Given the description of an element on the screen output the (x, y) to click on. 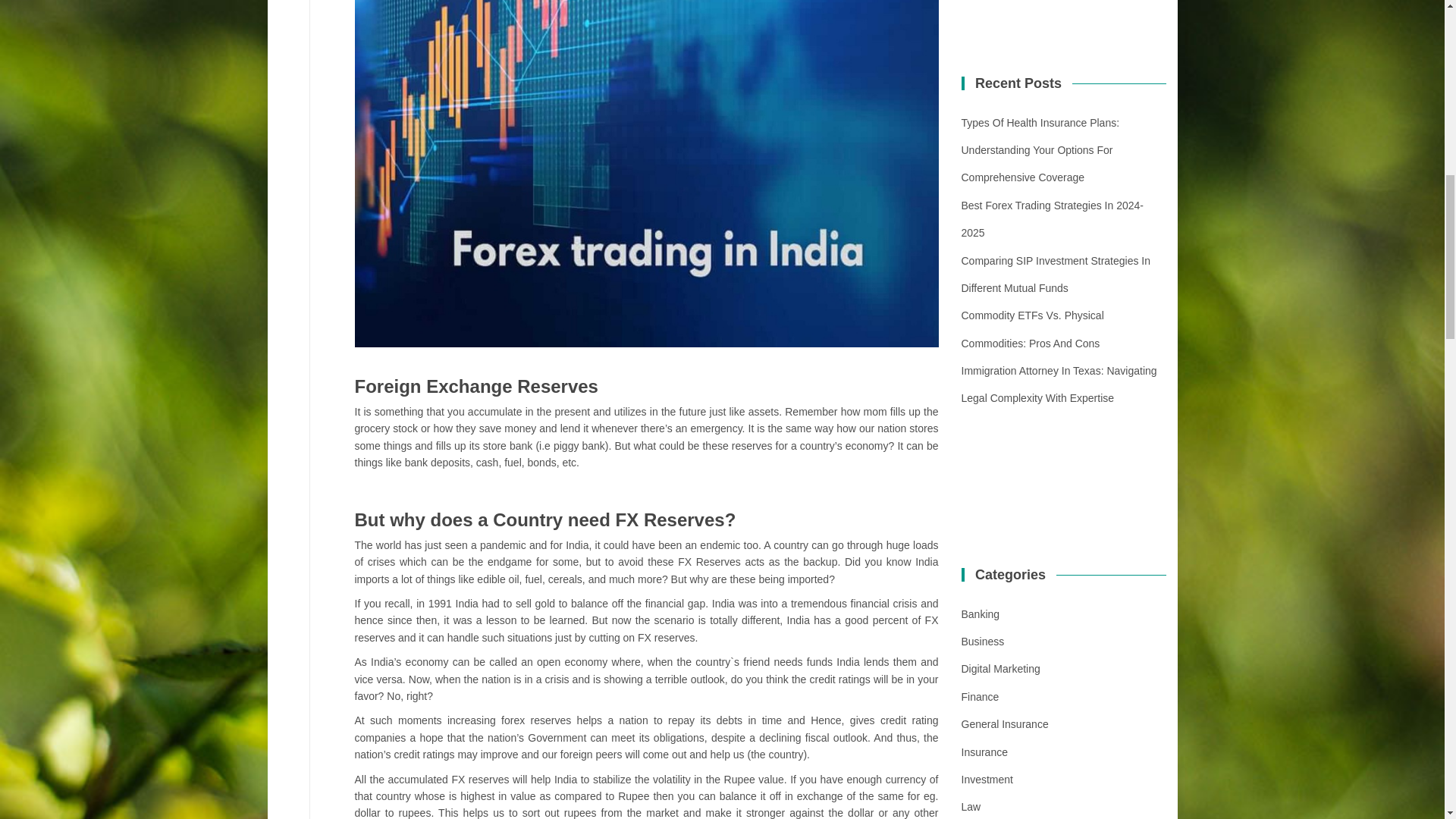
Advertisement (1068, 16)
